Given the description of an element on the screen output the (x, y) to click on. 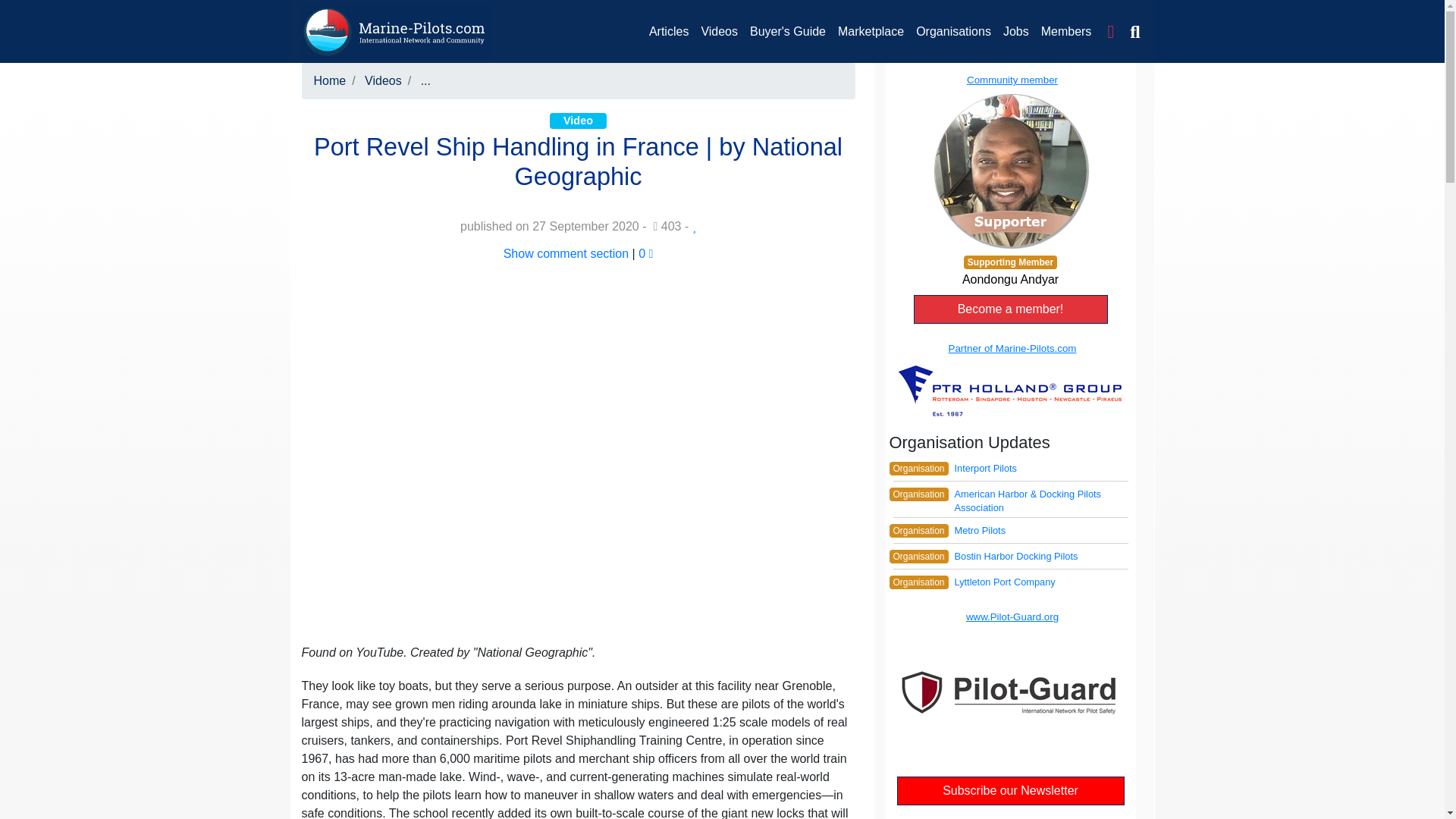
Buyer's Guide (787, 31)
Marketplace (870, 31)
Interport Pilots (984, 468)
Jobs (1016, 31)
all-time page views (666, 226)
Members (1066, 31)
Show comment section (565, 253)
403 (666, 226)
Partner of Marine-Pilots.com (1009, 379)
Organisations (953, 31)
